Given the description of an element on the screen output the (x, y) to click on. 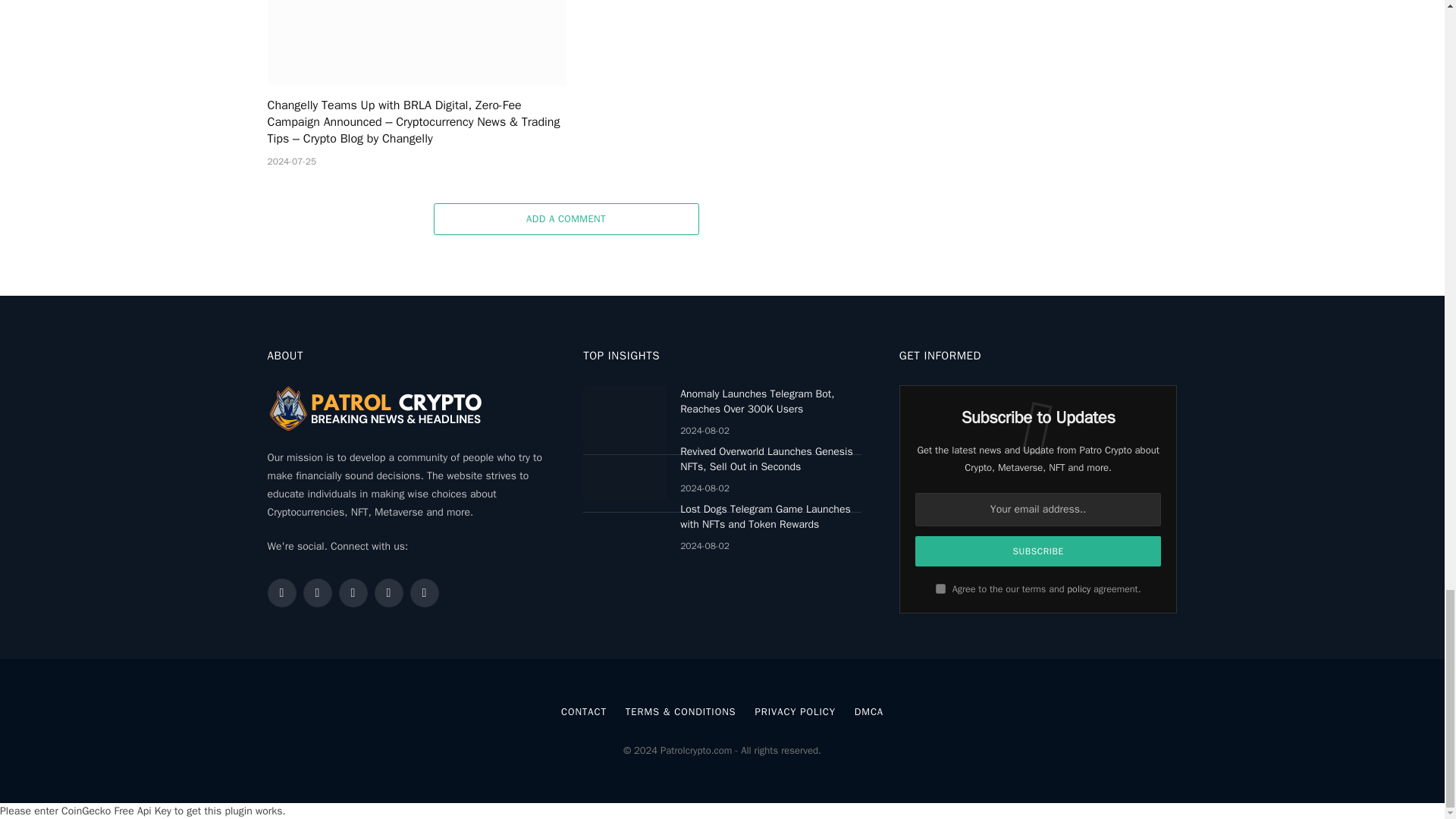
Subscribe (1038, 551)
on (940, 588)
